Given the description of an element on the screen output the (x, y) to click on. 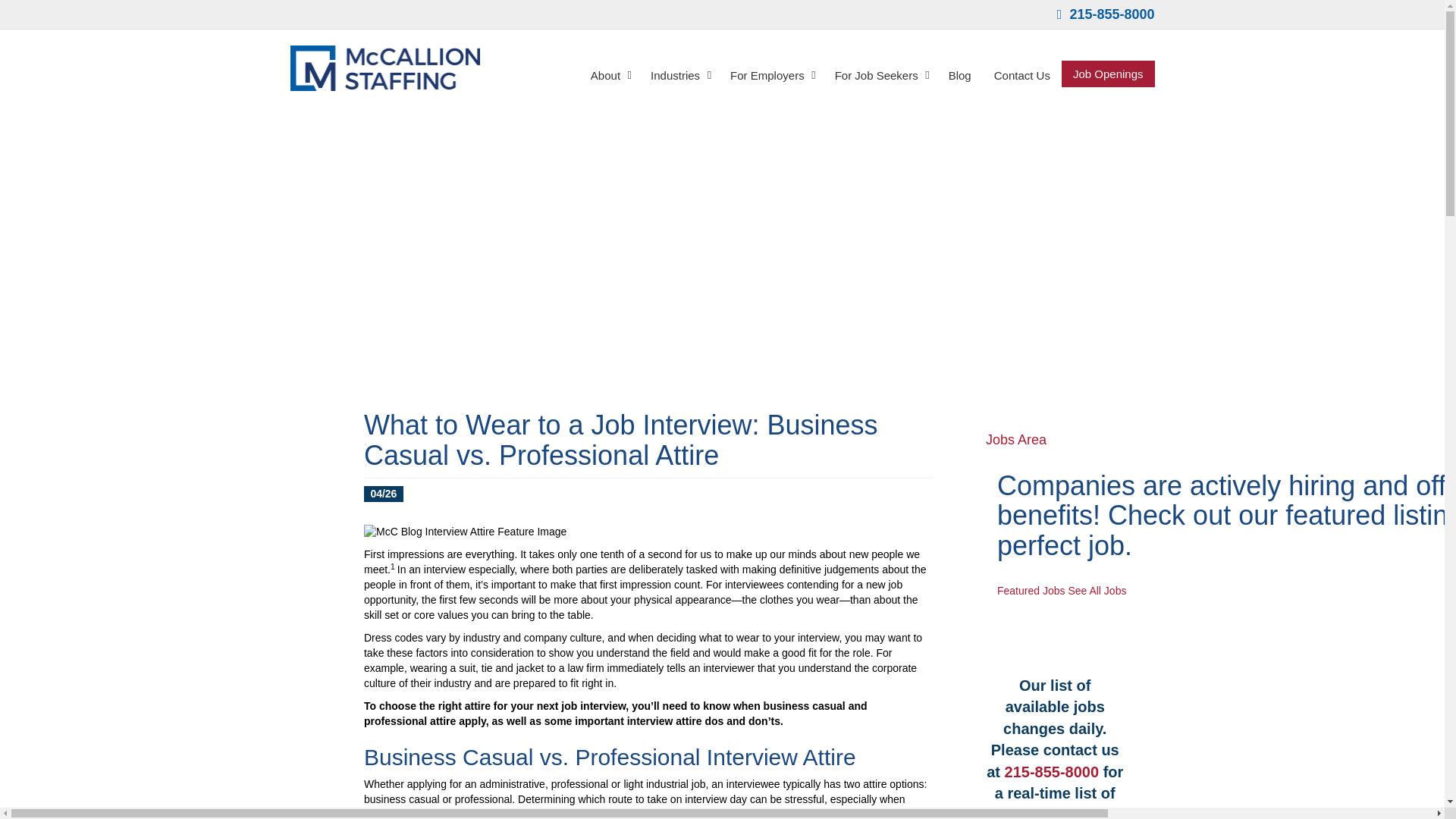
215-855-8000 (1051, 771)
About (609, 74)
215-855-8000 (1105, 14)
Blog (959, 74)
McCallion Staffing (384, 67)
Contact Us (1021, 74)
For Employers (771, 74)
Job Openings (1107, 73)
Featured Jobs (1031, 590)
For Job Seekers (880, 74)
See All Jobs (1096, 590)
Industries (679, 74)
